Given the description of an element on the screen output the (x, y) to click on. 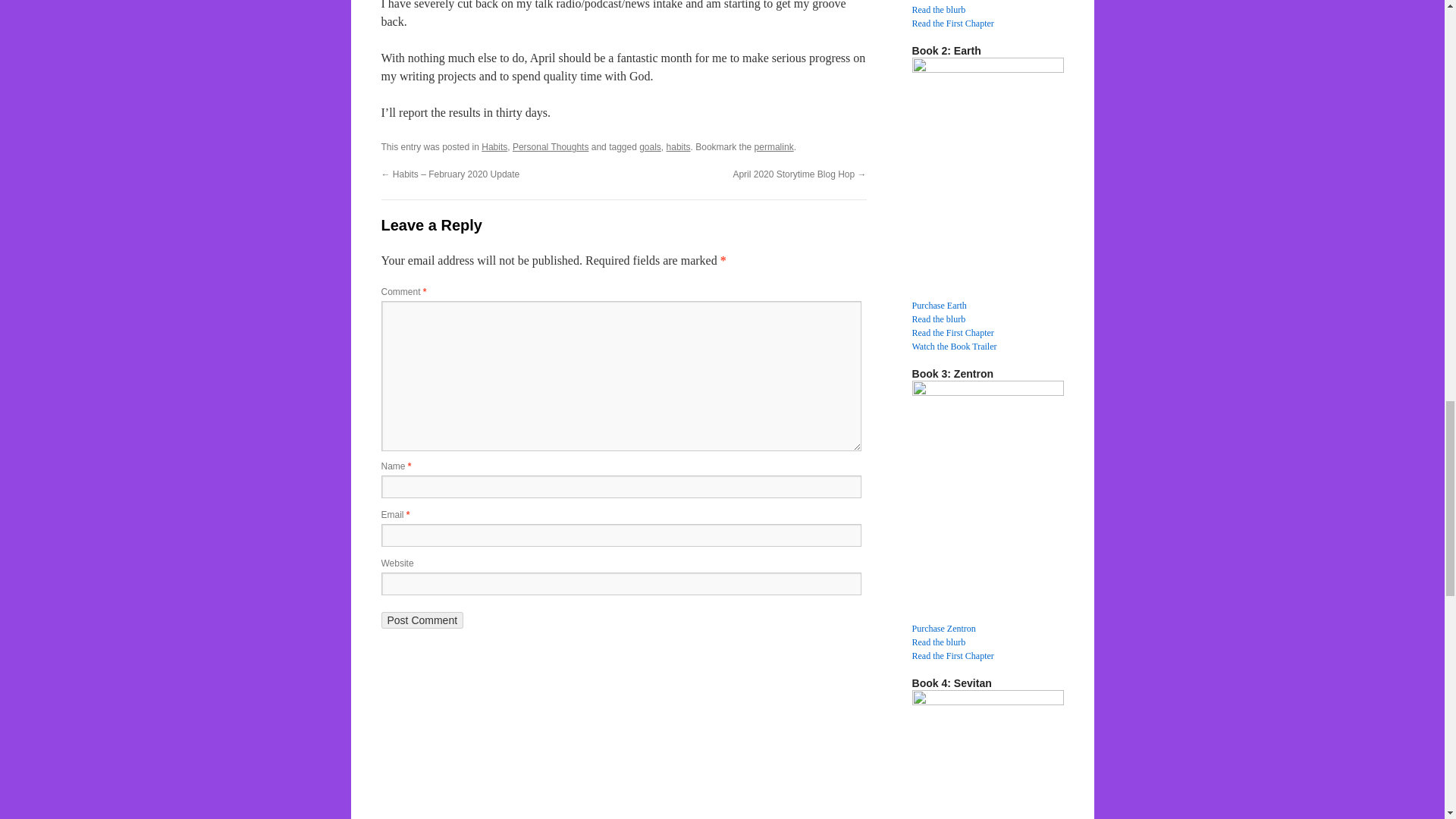
Post Comment (421, 619)
Personal Thoughts (550, 146)
goals (650, 146)
permalink (773, 146)
habits (678, 146)
Post Comment (421, 619)
Habits (493, 146)
